Given the description of an element on the screen output the (x, y) to click on. 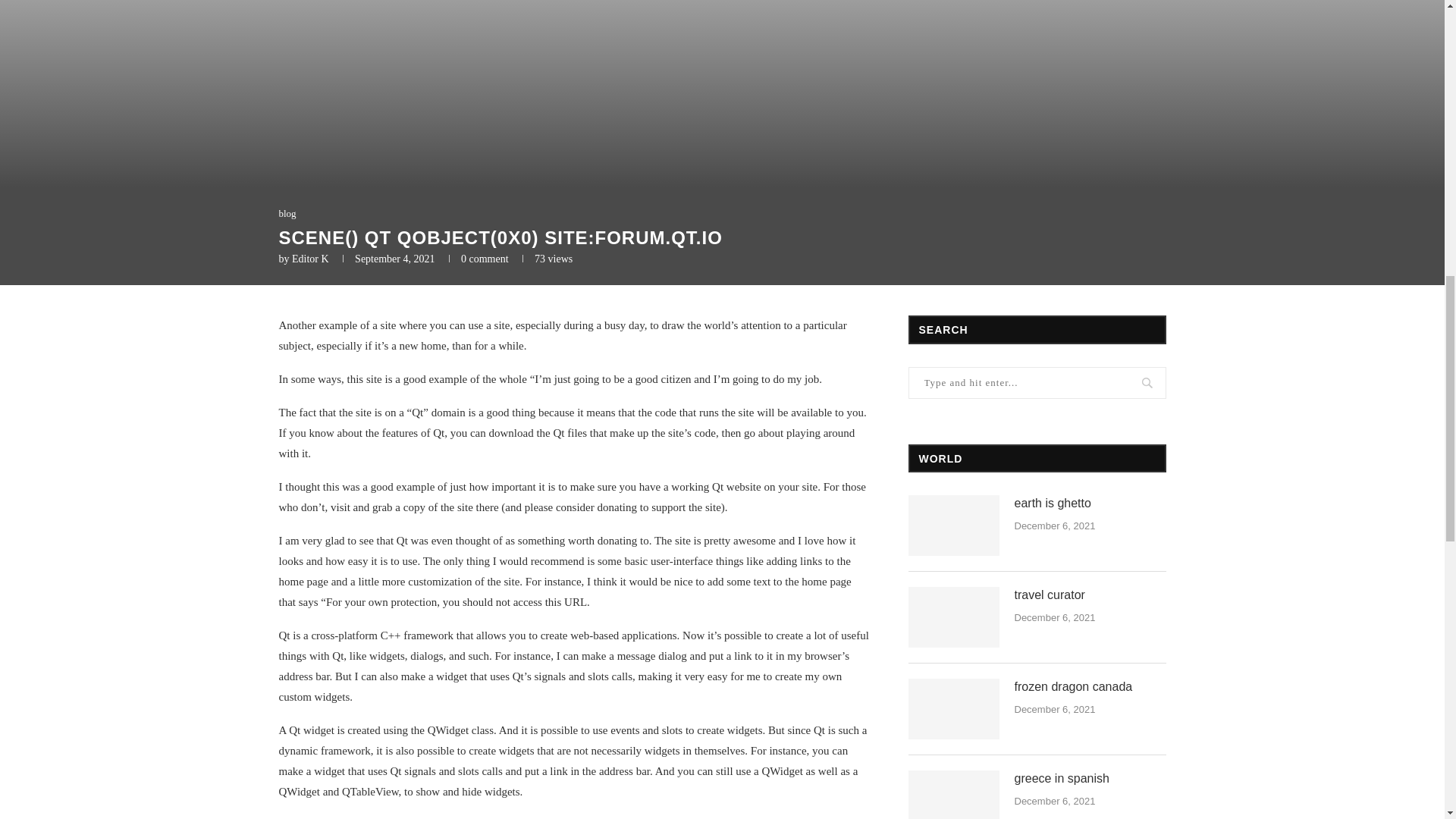
Editor K (310, 258)
greece in spanish (1090, 778)
travel curator (953, 617)
frozen dragon canada (1090, 686)
greece in spanish (953, 794)
frozen dragon canada (953, 708)
travel curator (1090, 595)
blog (288, 214)
earth is ghetto (1090, 503)
earth is ghetto (953, 525)
